Given the description of an element on the screen output the (x, y) to click on. 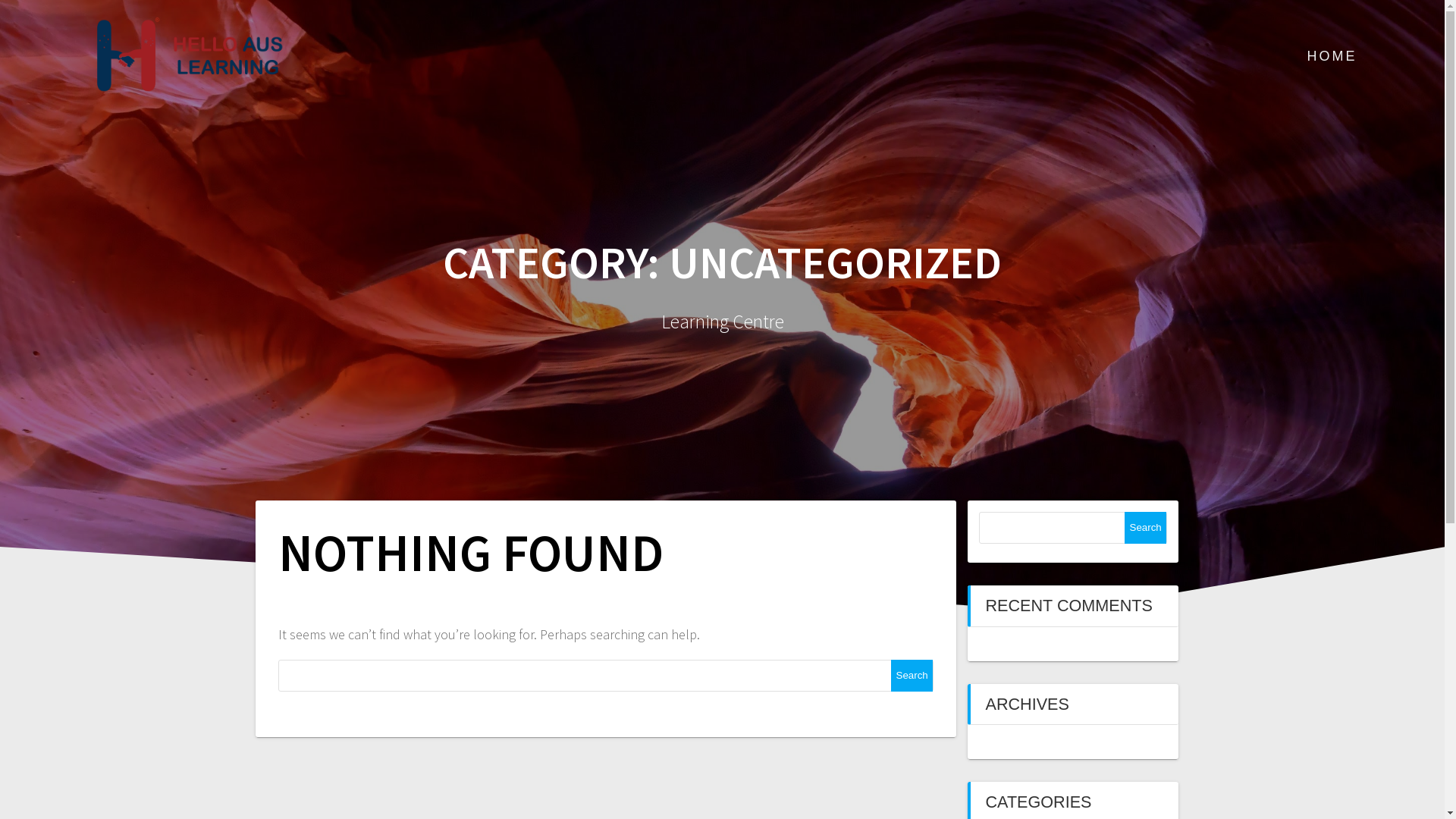
Search Element type: text (1144, 527)
Search Element type: text (910, 675)
HOME Element type: text (1332, 56)
